Given the description of an element on the screen output the (x, y) to click on. 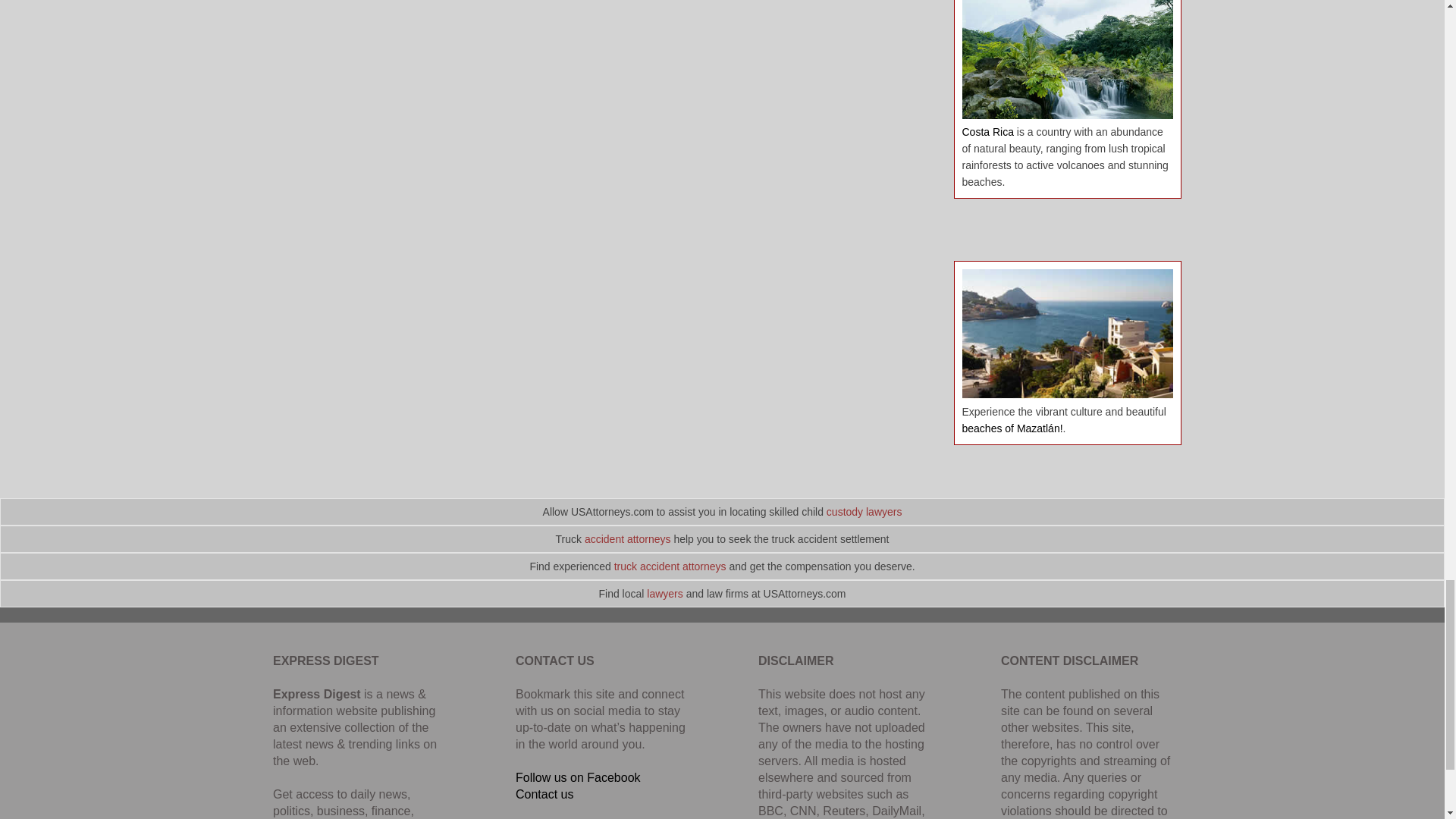
lawyers (664, 593)
custody lawyers (864, 511)
accident attorneys (628, 539)
truck accident attorneys (670, 566)
Costa Rica (986, 132)
